Given the description of an element on the screen output the (x, y) to click on. 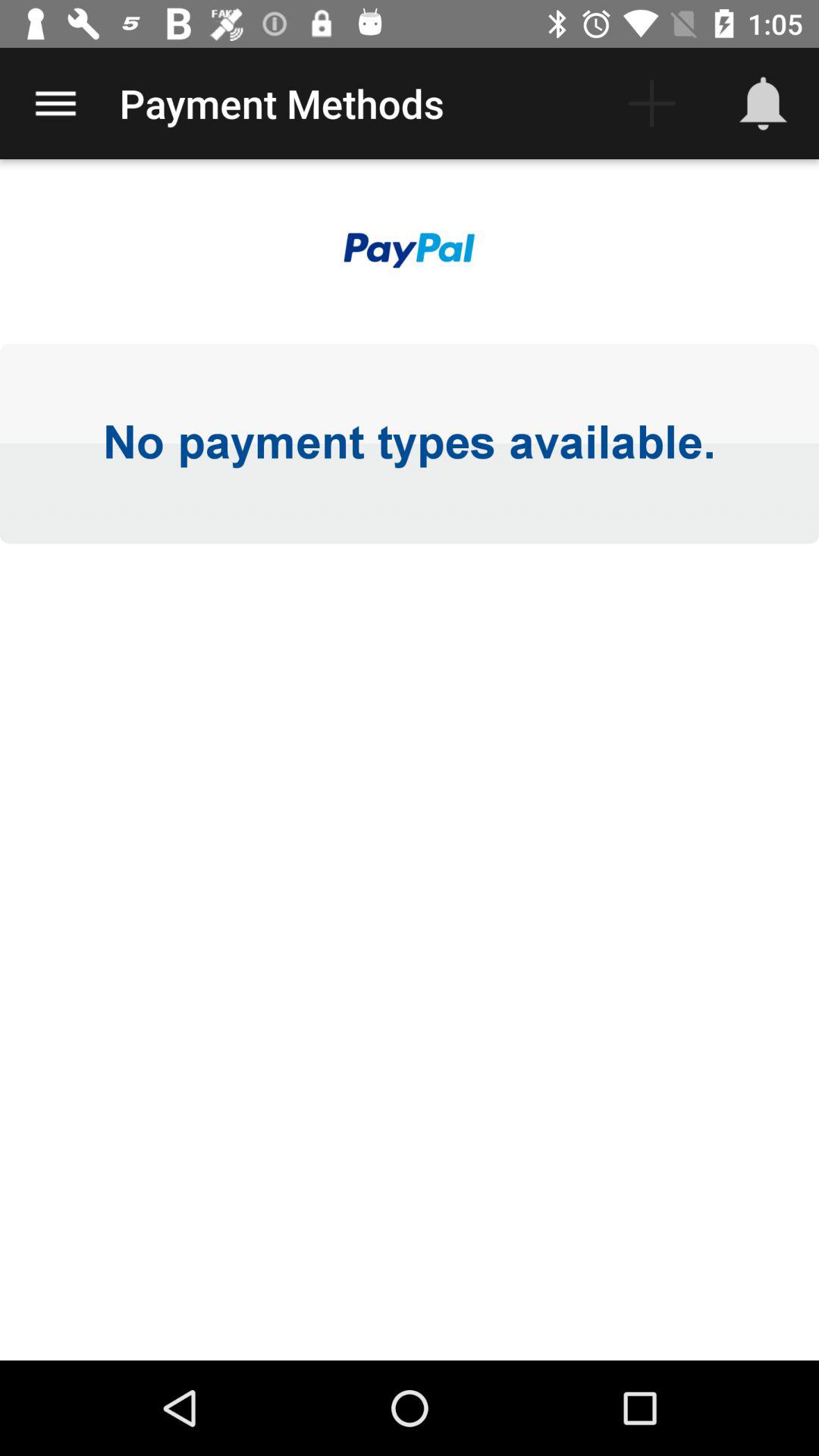
open the icon at the top left corner (55, 103)
